Given the description of an element on the screen output the (x, y) to click on. 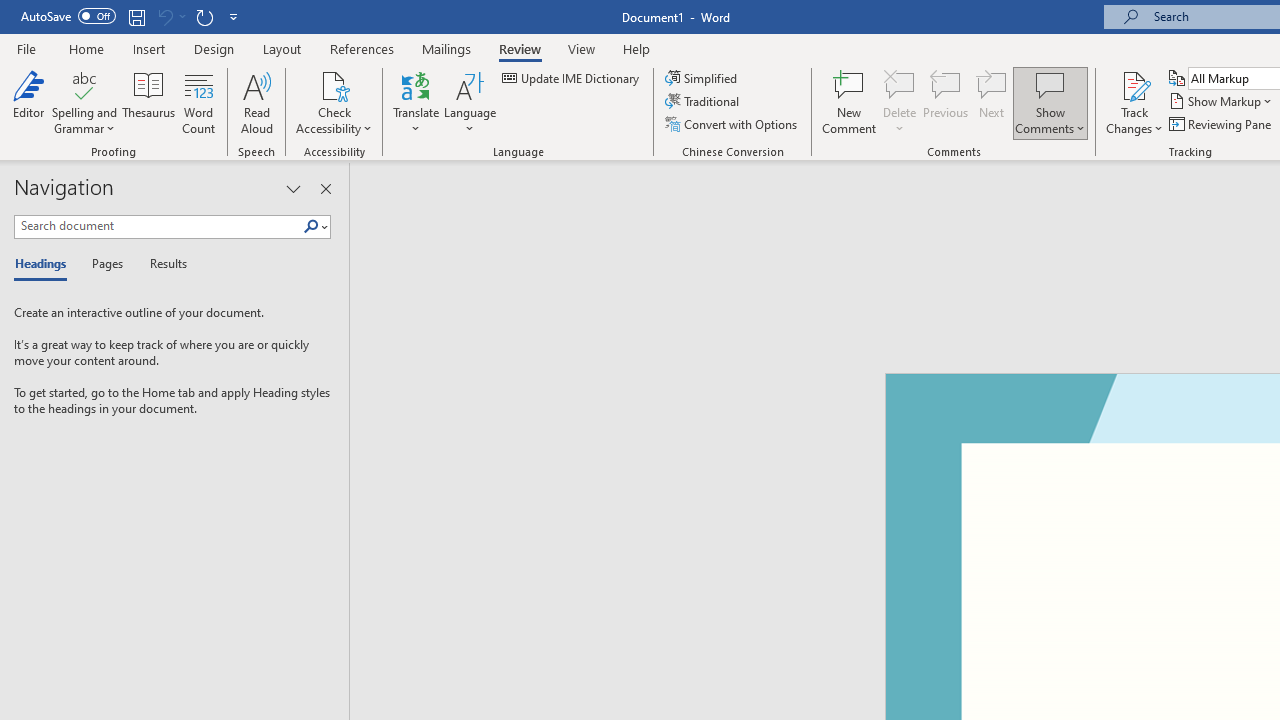
Update IME Dictionary... (572, 78)
AutoSave (68, 16)
Class: NetUIImage (311, 226)
File Tab (26, 48)
Delete (900, 84)
Search document (157, 226)
Delete (900, 102)
Mailings (447, 48)
Help (637, 48)
New Comment (849, 102)
Insert (149, 48)
Track Changes (1134, 102)
Task Pane Options (293, 188)
Track Changes (1134, 84)
Pages (105, 264)
